Given the description of an element on the screen output the (x, y) to click on. 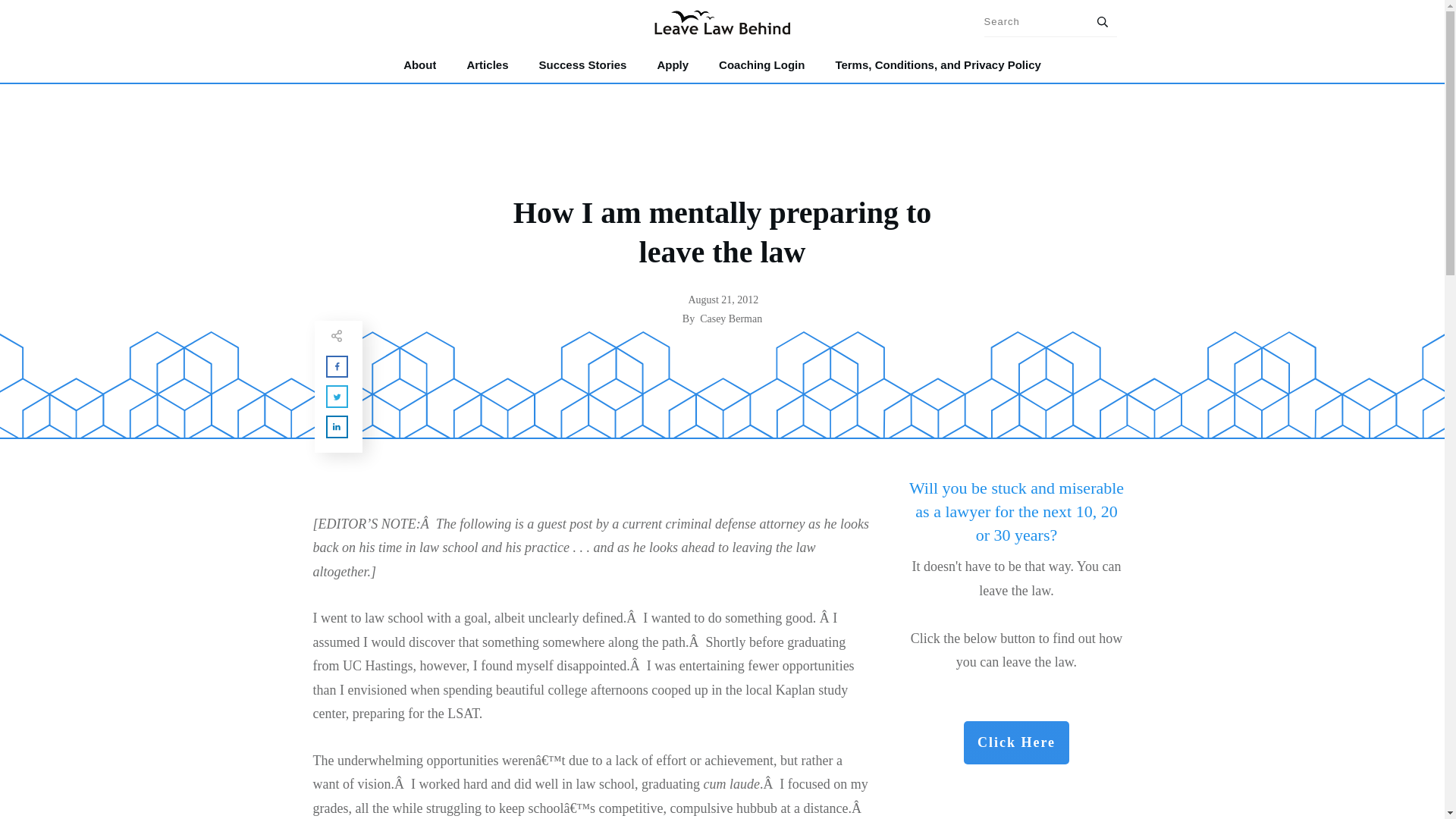
Articles (486, 65)
Success Stories (582, 65)
About (419, 65)
Terms, Conditions, and Privacy Policy (937, 65)
Click Here (1015, 742)
Apply (672, 65)
Coaching Login (762, 65)
